Given the description of an element on the screen output the (x, y) to click on. 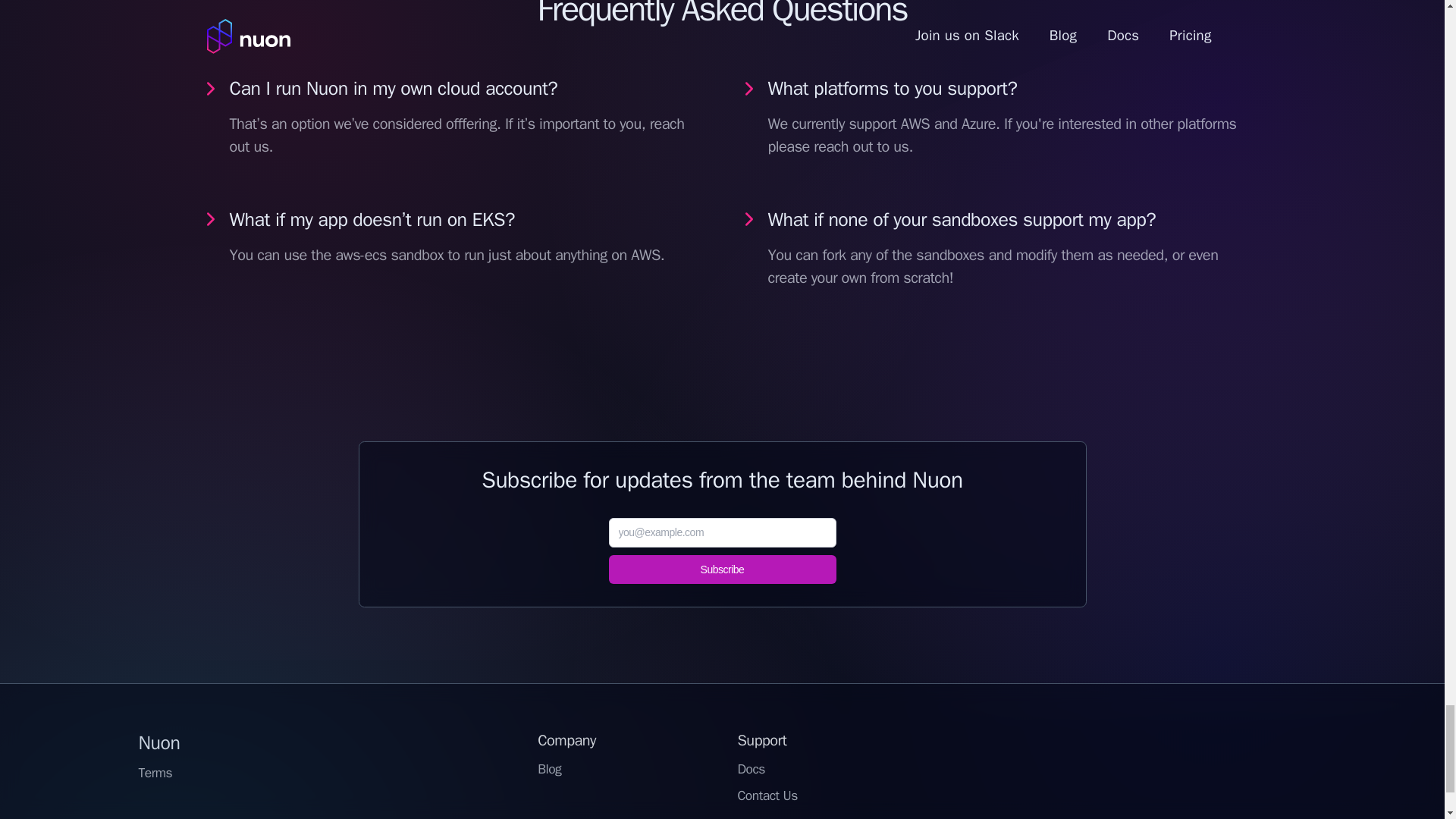
Terms (154, 772)
Subscribe (721, 569)
Blog (548, 768)
Nuon (158, 742)
Docs (750, 768)
Contact Us (766, 795)
